Given the description of an element on the screen output the (x, y) to click on. 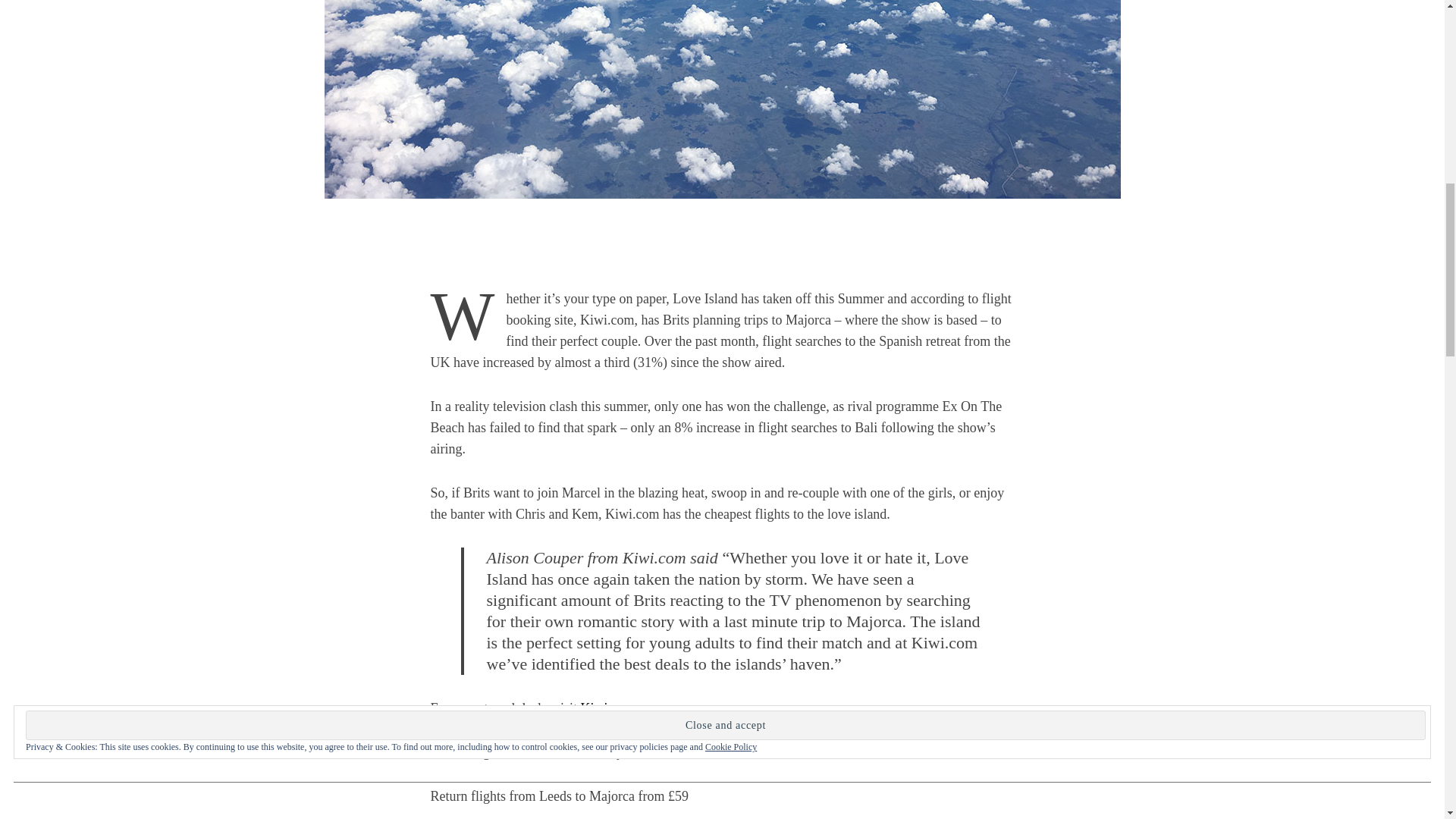
Kiwi.com (606, 708)
